Given the description of an element on the screen output the (x, y) to click on. 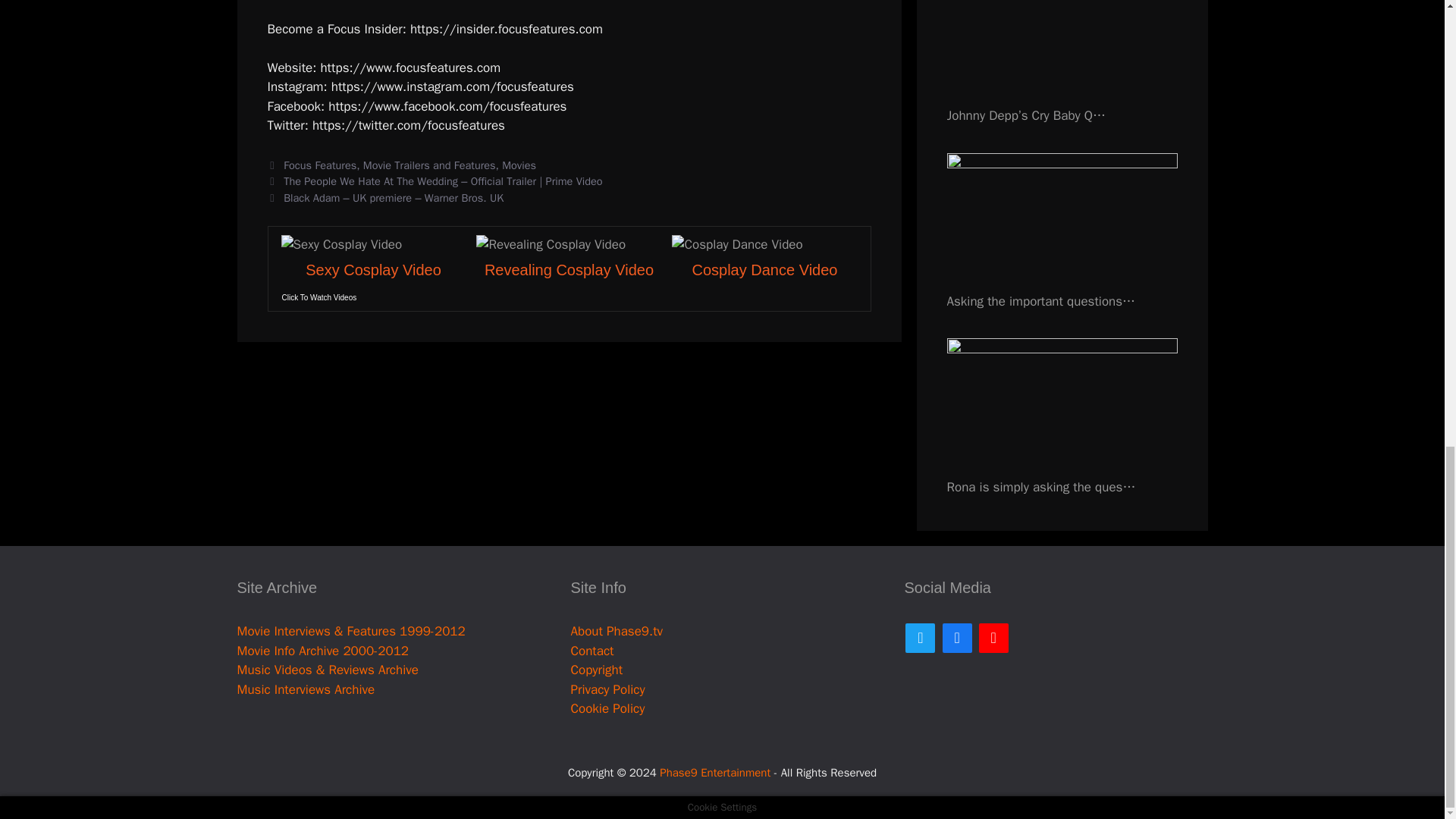
Movie Info Archive 2000-2012 (322, 650)
Cosplay Dance Video (764, 269)
Movies (518, 164)
Revealing Cosplay Video (568, 269)
Focus Features (319, 164)
Sexy Cosplay Video (373, 269)
Movie Trailers and Features (429, 164)
